Given the description of an element on the screen output the (x, y) to click on. 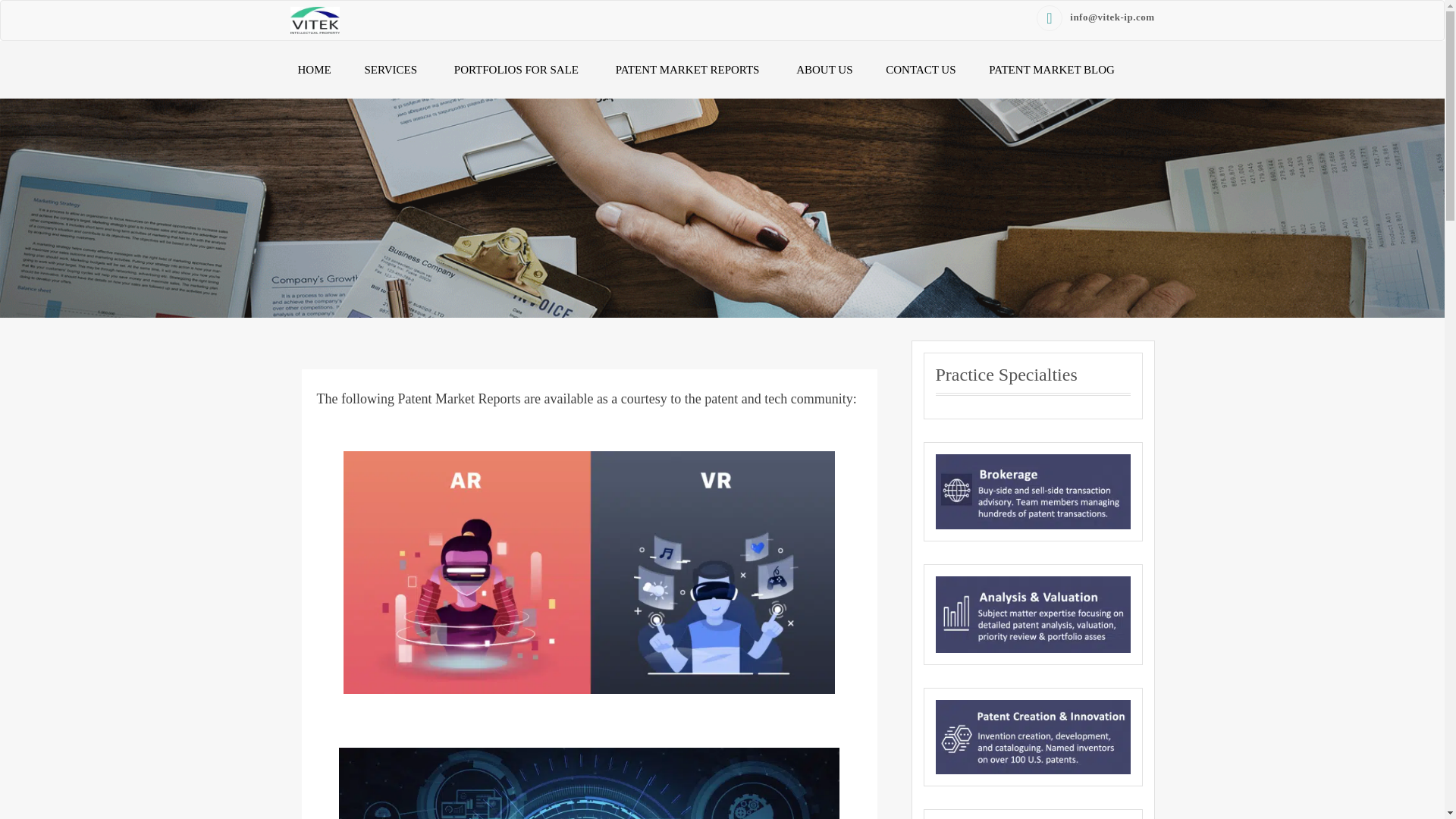
ABOUT US (823, 69)
SERVICES (392, 69)
PORTFOLIOS FOR SALE (517, 69)
PATENT MARKET REPORTS (688, 69)
HOME (314, 69)
